Given the description of an element on the screen output the (x, y) to click on. 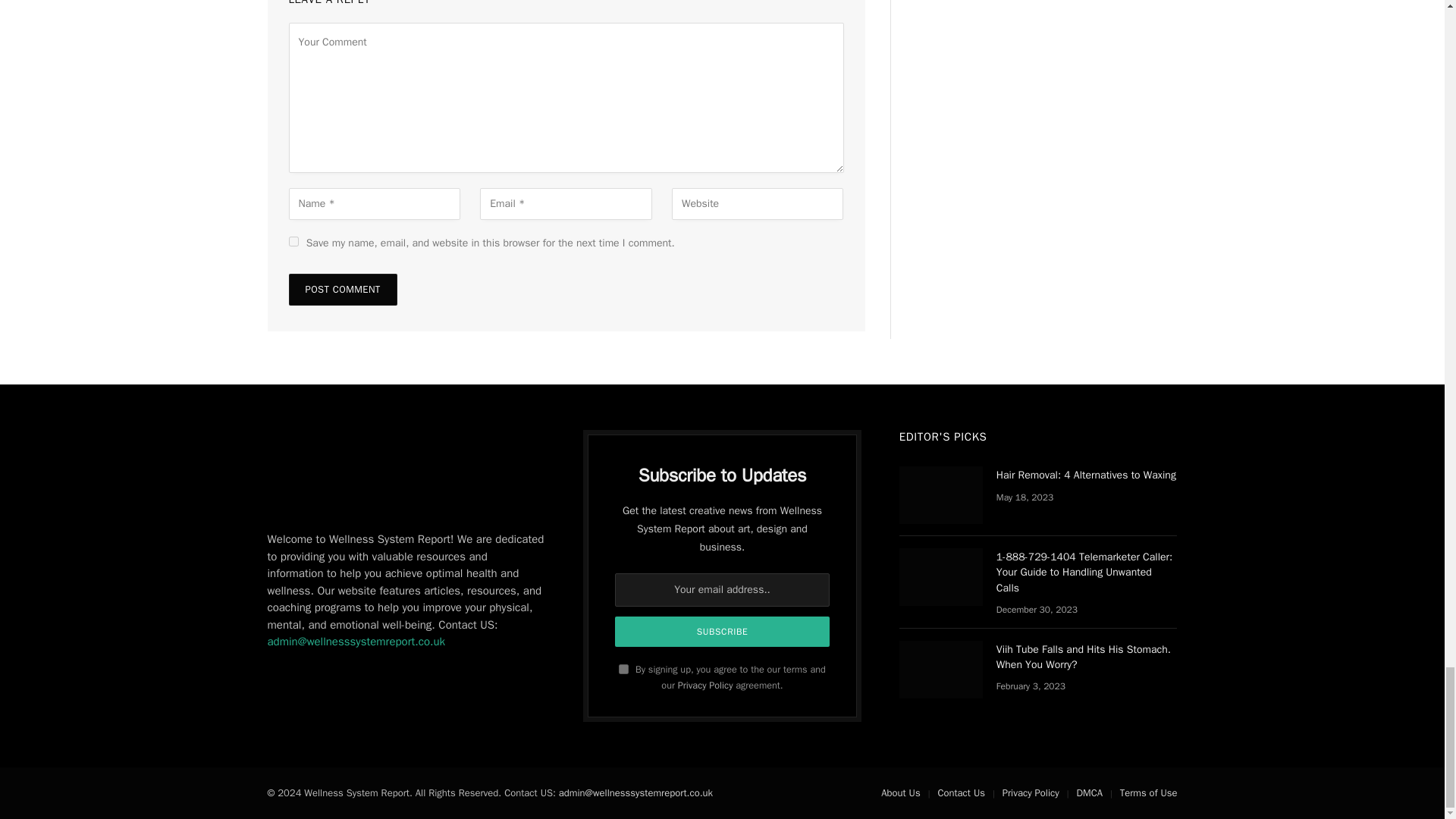
Post Comment (342, 289)
Hair Removal: 4 Alternatives to Waxing (940, 495)
on (623, 669)
yes (293, 241)
Subscribe (721, 631)
